Given the description of an element on the screen output the (x, y) to click on. 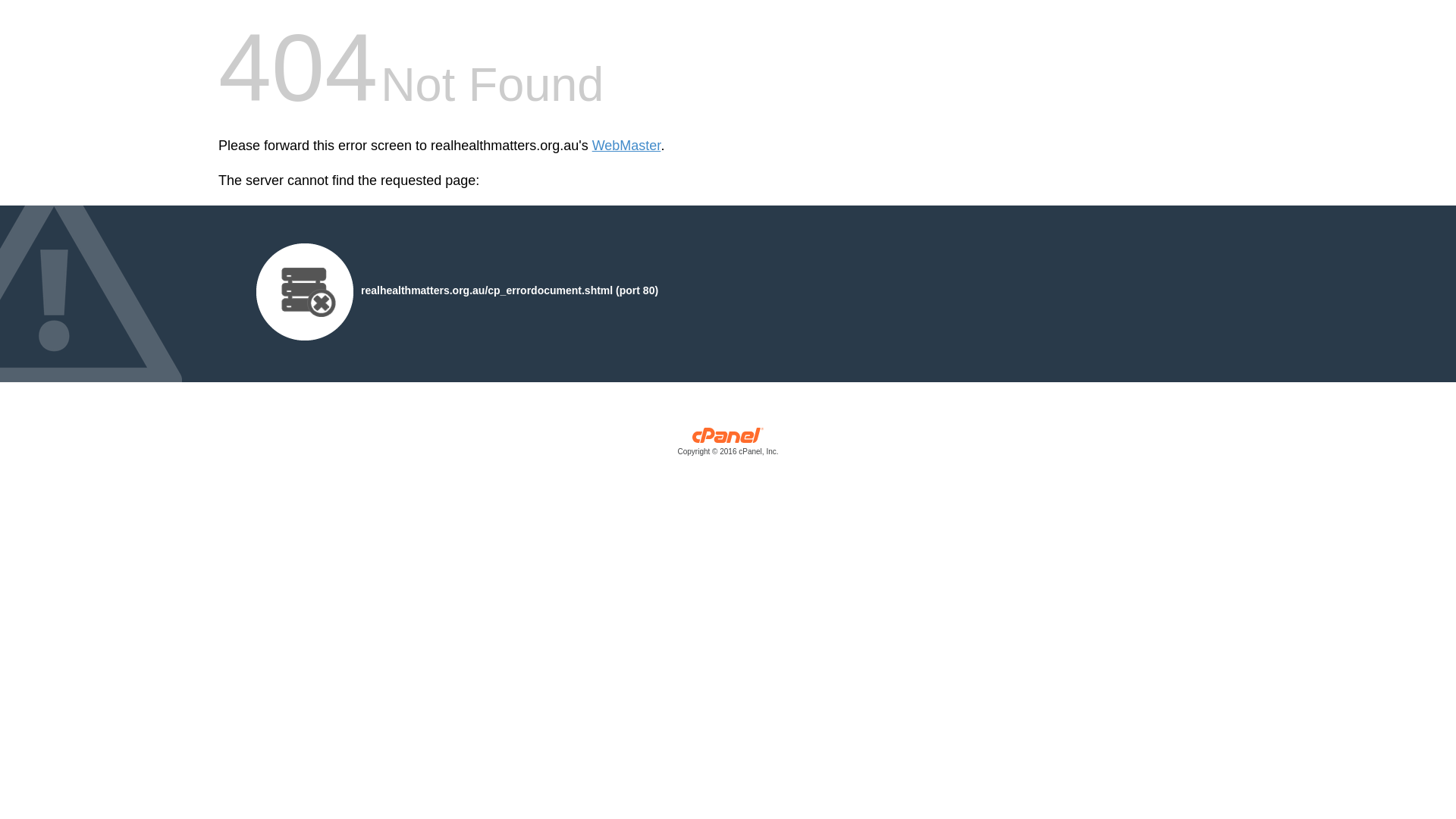
WebMaster Element type: text (626, 145)
